Given the description of an element on the screen output the (x, y) to click on. 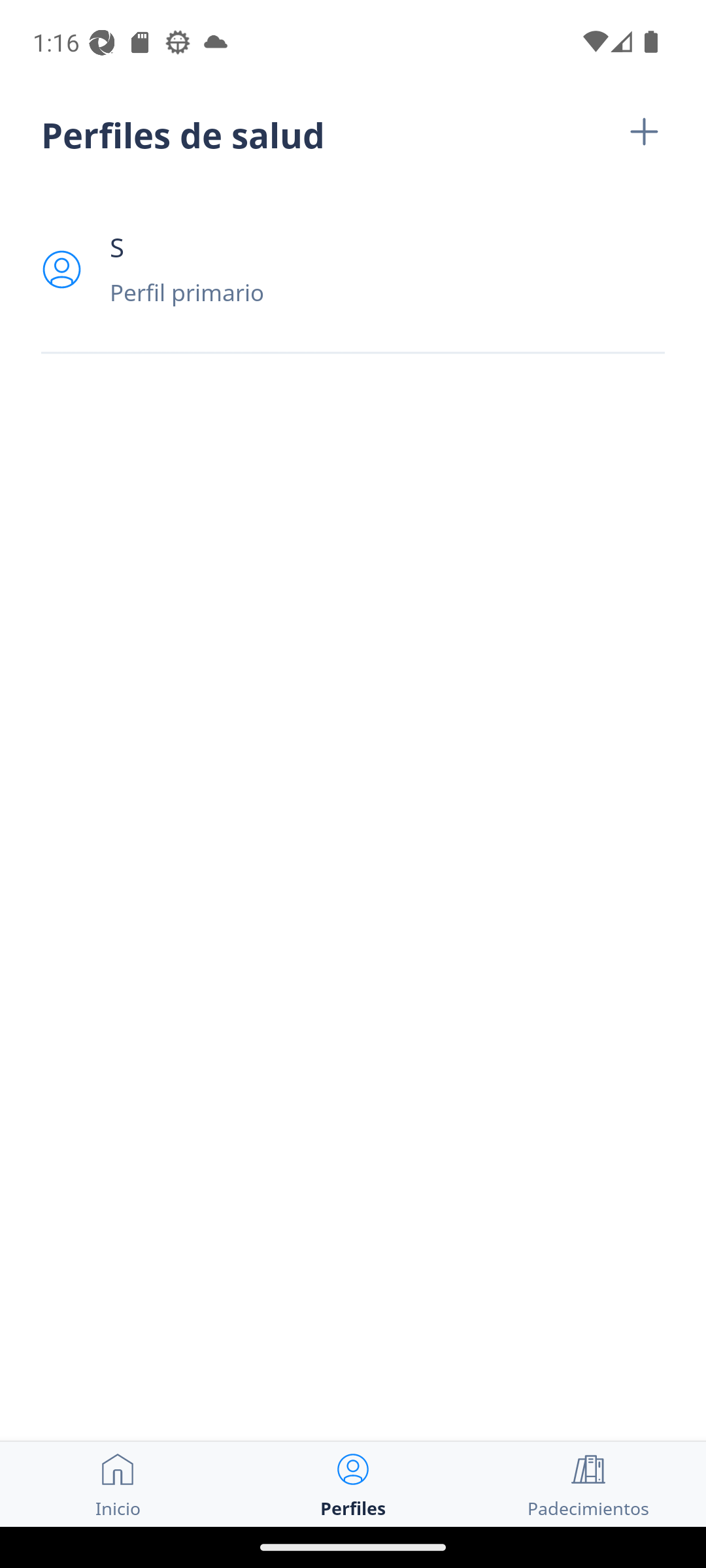
S Perfil primario (352, 269)
Inicio (117, 1484)
Perfiles (352, 1484)
Padecimientos (588, 1484)
